Given the description of an element on the screen output the (x, y) to click on. 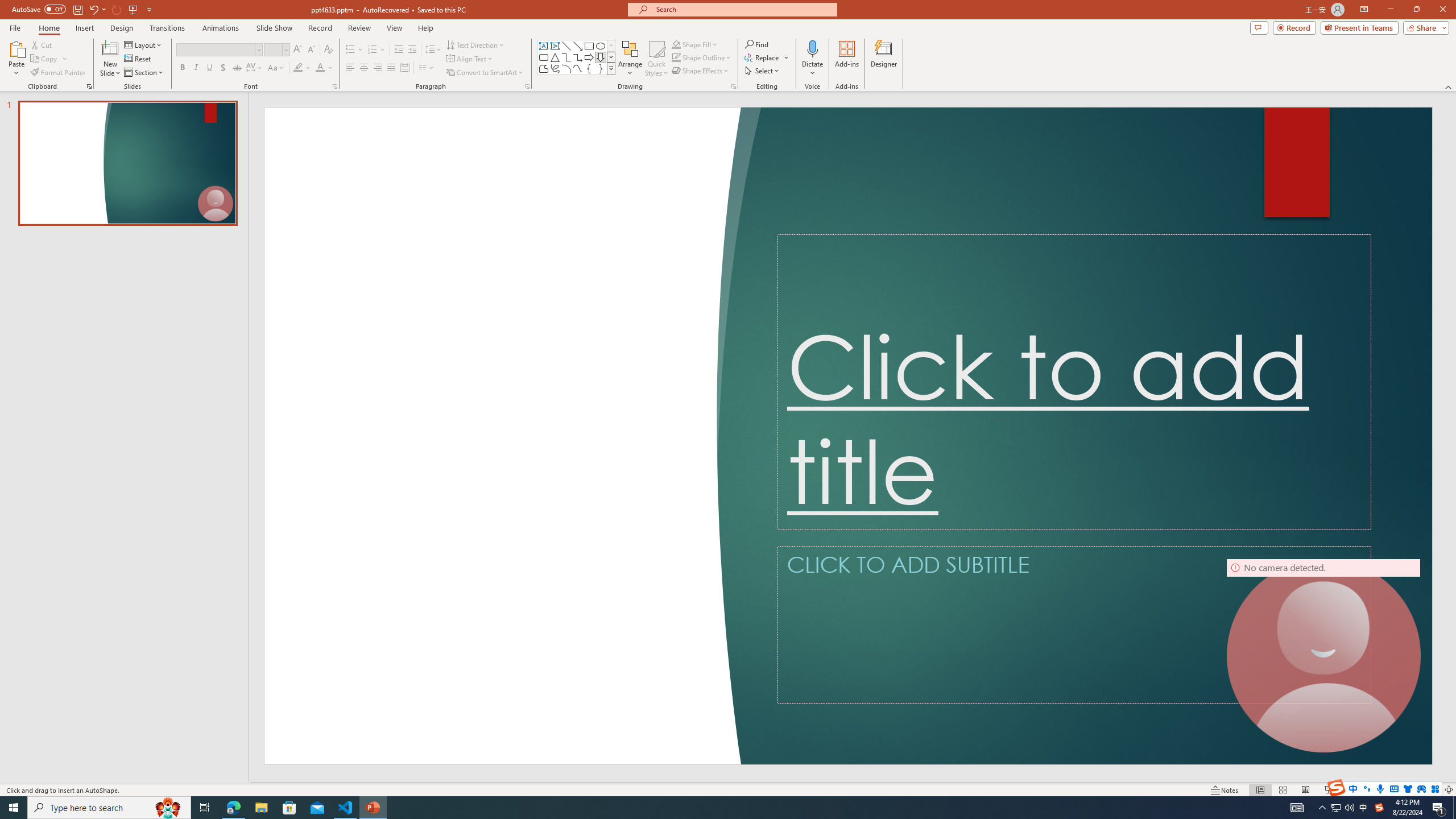
Zoom 161% (1430, 790)
